Given the description of an element on the screen output the (x, y) to click on. 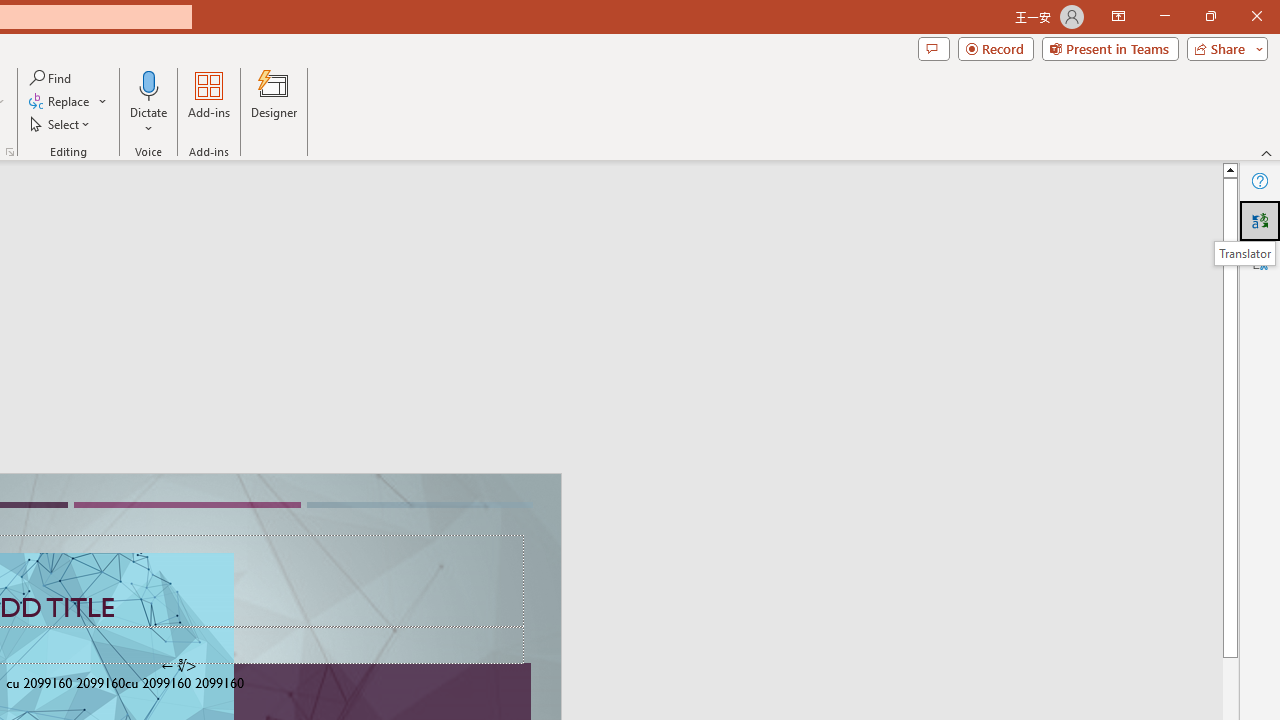
TextBox 7 (178, 666)
